Given the description of an element on the screen output the (x, y) to click on. 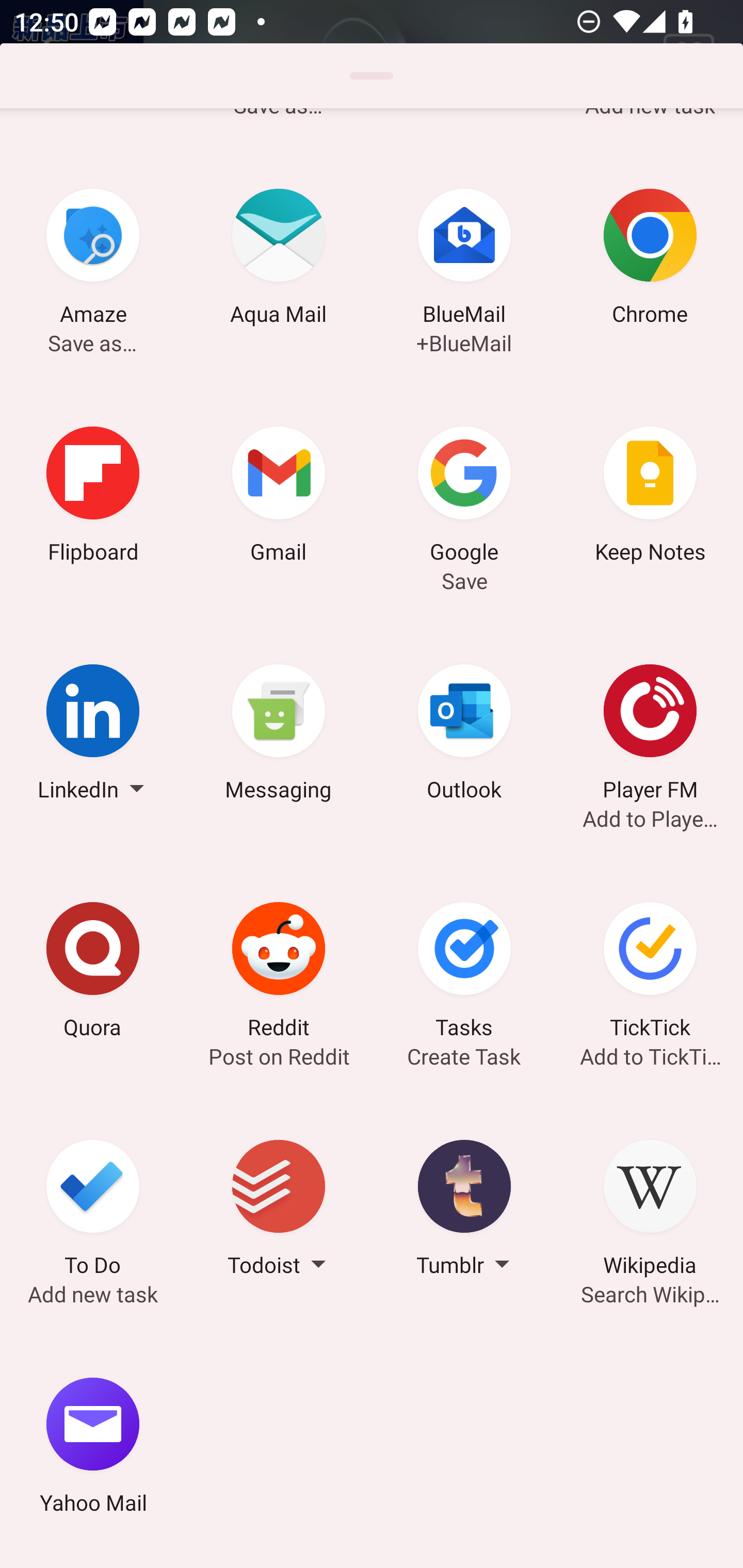
Amaze Save as… (92, 260)
Aqua Mail (278, 260)
BlueMail +BlueMail (464, 260)
Chrome (650, 260)
Flipboard (92, 497)
Gmail (278, 497)
Google Save (464, 497)
Keep Notes (650, 497)
LinkedIn (92, 735)
Messaging (278, 735)
Outlook (464, 735)
Player FM Add to Player FM (650, 735)
Quora (92, 973)
Reddit Post on Reddit (278, 973)
Tasks Create Task (464, 973)
TickTick Add to TickTick (650, 973)
To Do Add new task (92, 1210)
Todoist (278, 1210)
Tumblr (464, 1210)
Wikipedia Search Wikipedia (650, 1210)
Yahoo Mail (92, 1448)
